Given the description of an element on the screen output the (x, y) to click on. 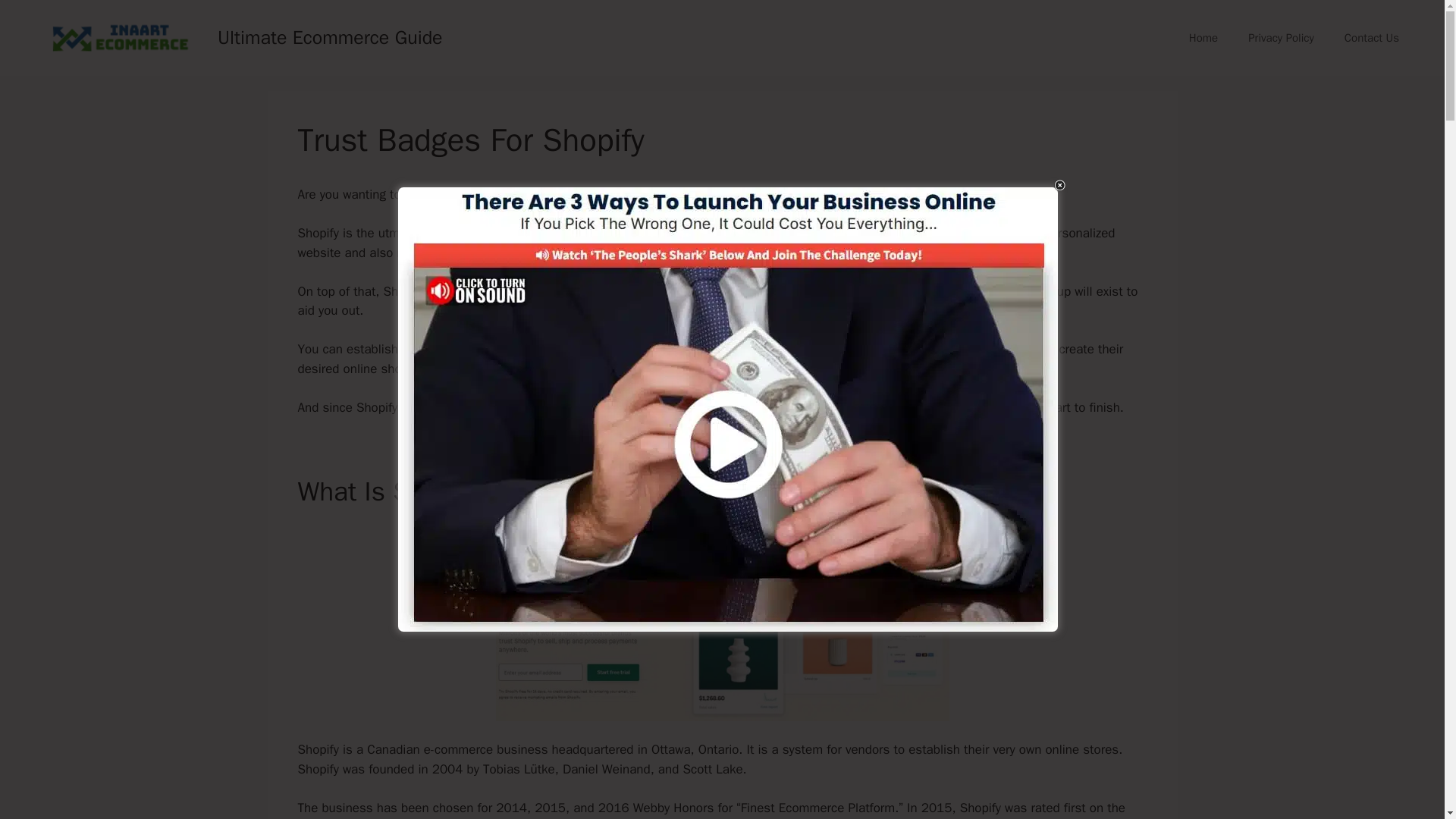
online shop (494, 194)
Contact Us (1371, 37)
Home (1203, 37)
Privacy Policy (1281, 37)
Ultimate Ecommerce Guide (329, 37)
Close (1062, 183)
